Given the description of an element on the screen output the (x, y) to click on. 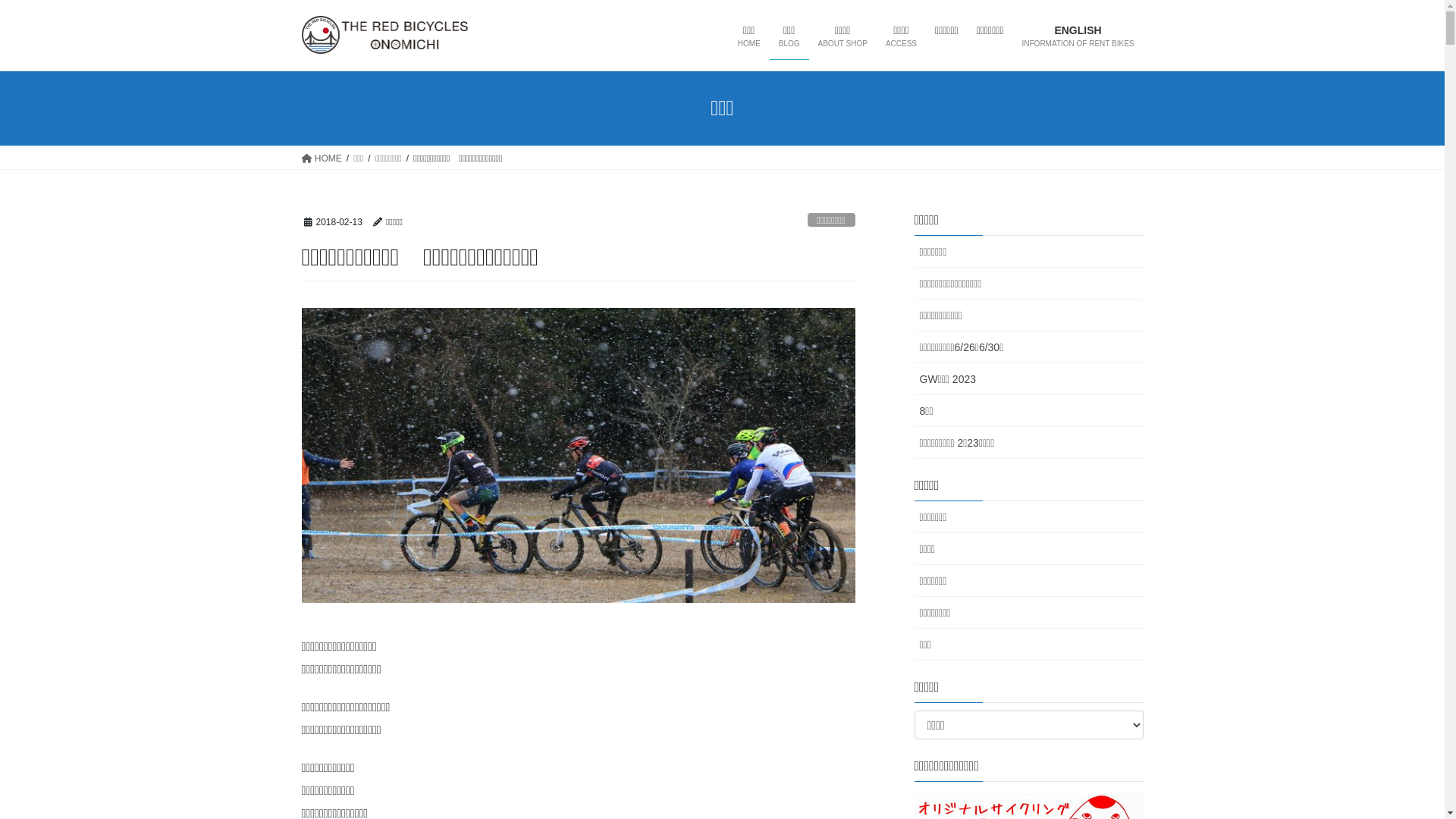
HOME Element type: text (321, 157)
ENGLISH
INFORMATION OF RENT BIKES Element type: text (1078, 35)
